Given the description of an element on the screen output the (x, y) to click on. 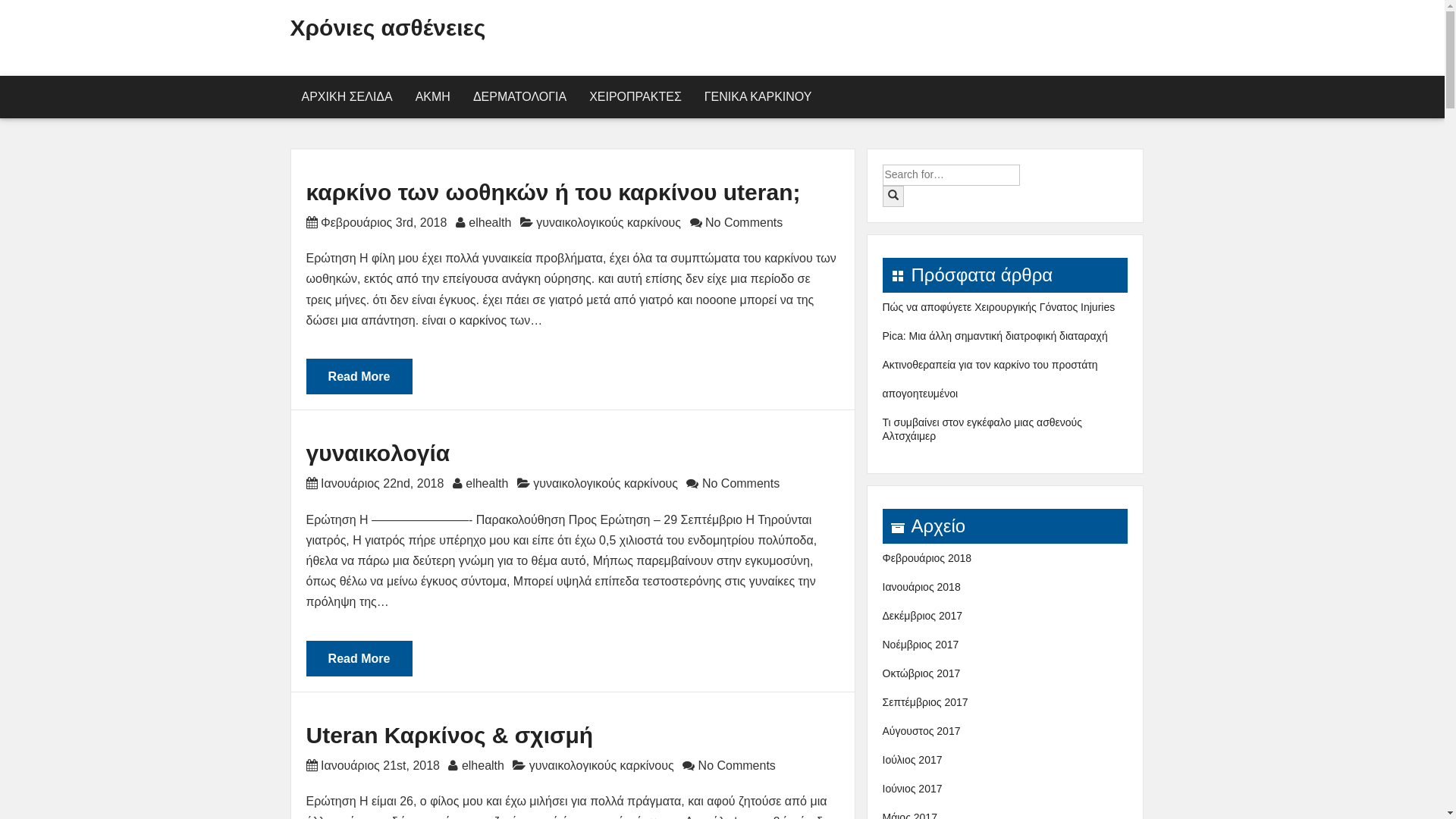
No Comments Element type: text (738, 482)
Read More Element type: text (359, 672)
elhealth Element type: text (486, 482)
elhealth Element type: text (489, 222)
elhealth Element type: text (482, 765)
No Comments Element type: text (742, 222)
No Comments Element type: text (734, 765)
Read More Element type: text (359, 390)
Read More Element type: text (359, 376)
Read More Element type: text (359, 658)
